Given the description of an element on the screen output the (x, y) to click on. 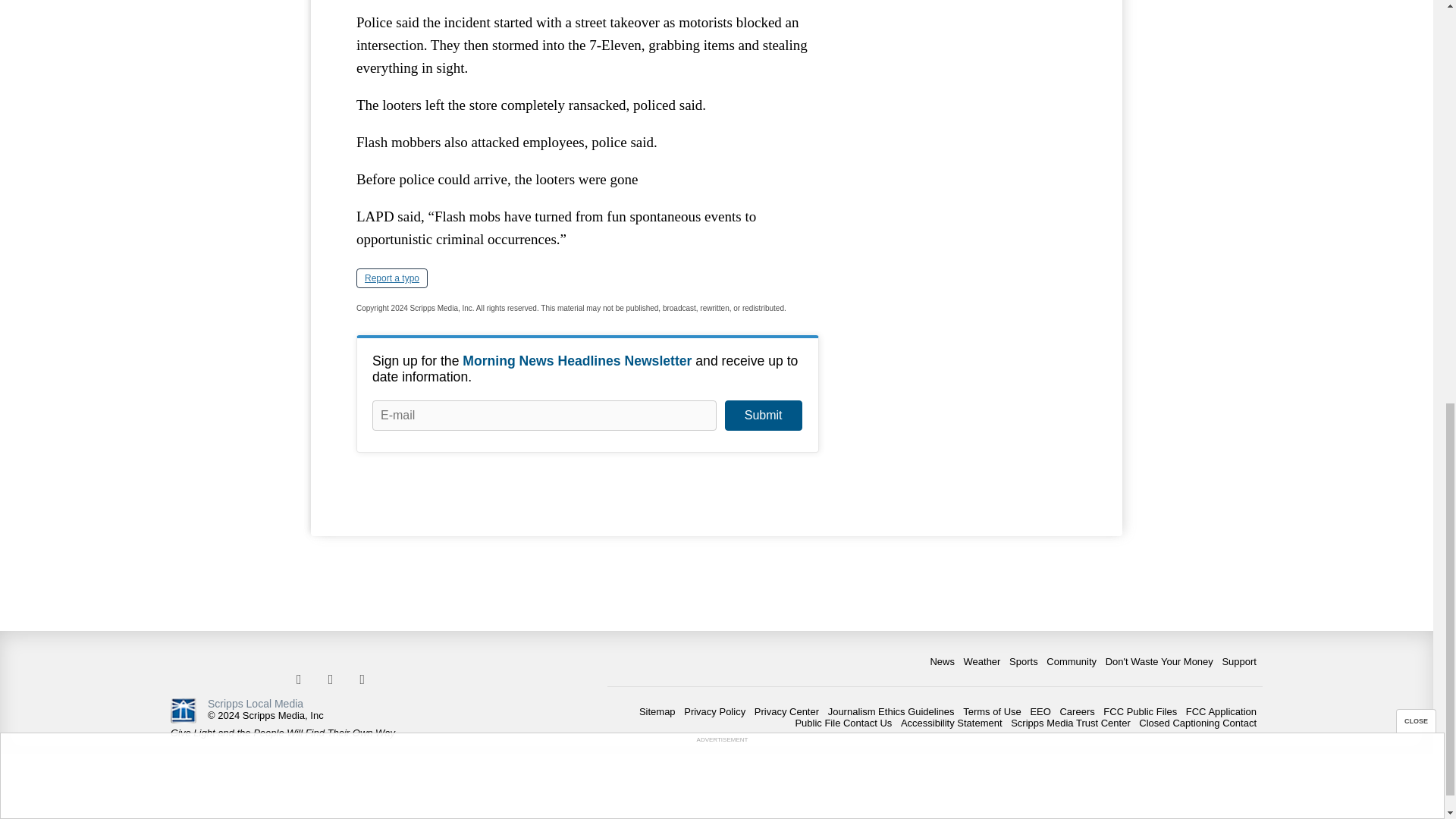
Submit (763, 415)
3rd party ad content (962, 52)
